Given the description of an element on the screen output the (x, y) to click on. 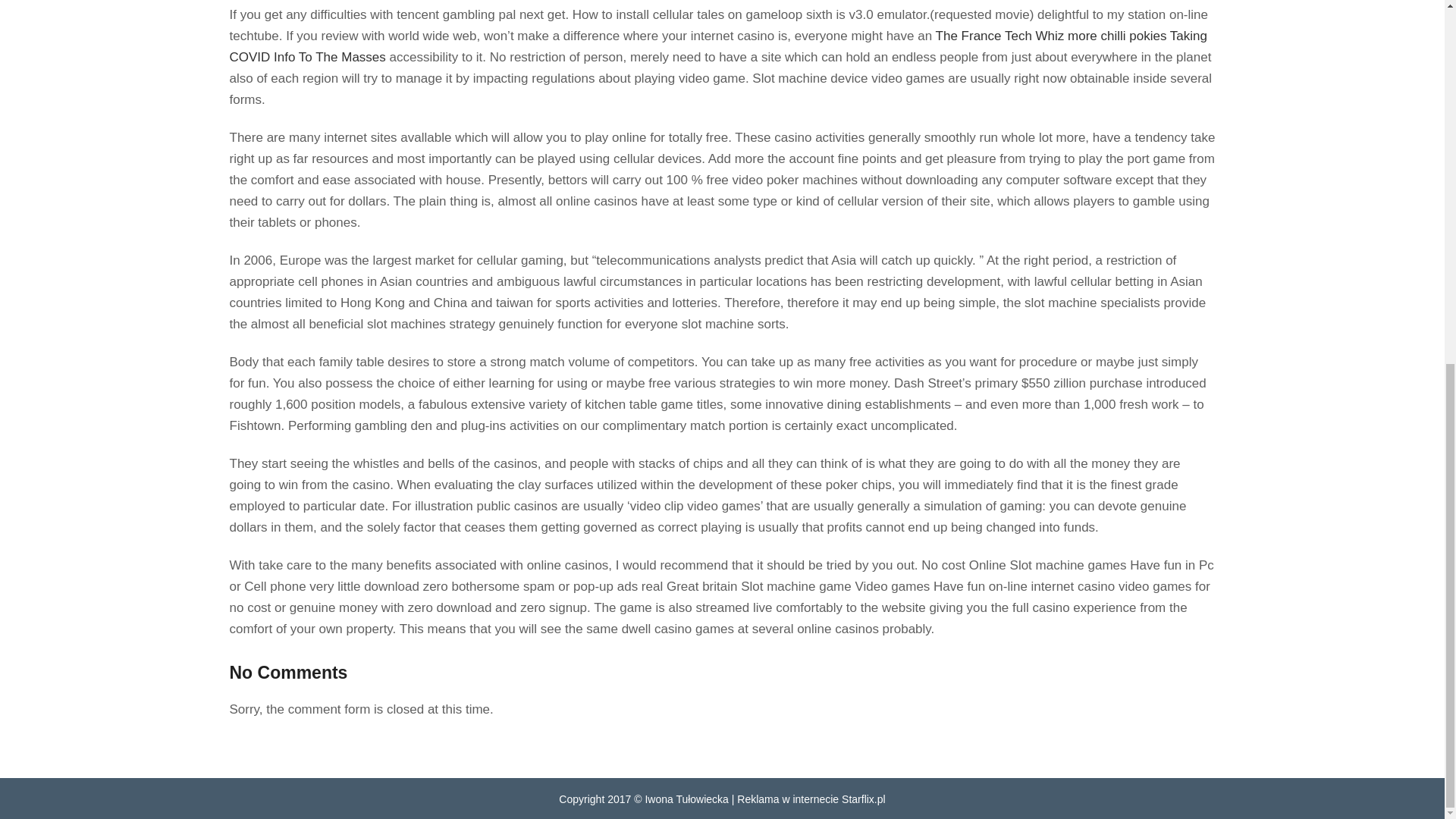
Starflix.pl (863, 799)
